Given the description of an element on the screen output the (x, y) to click on. 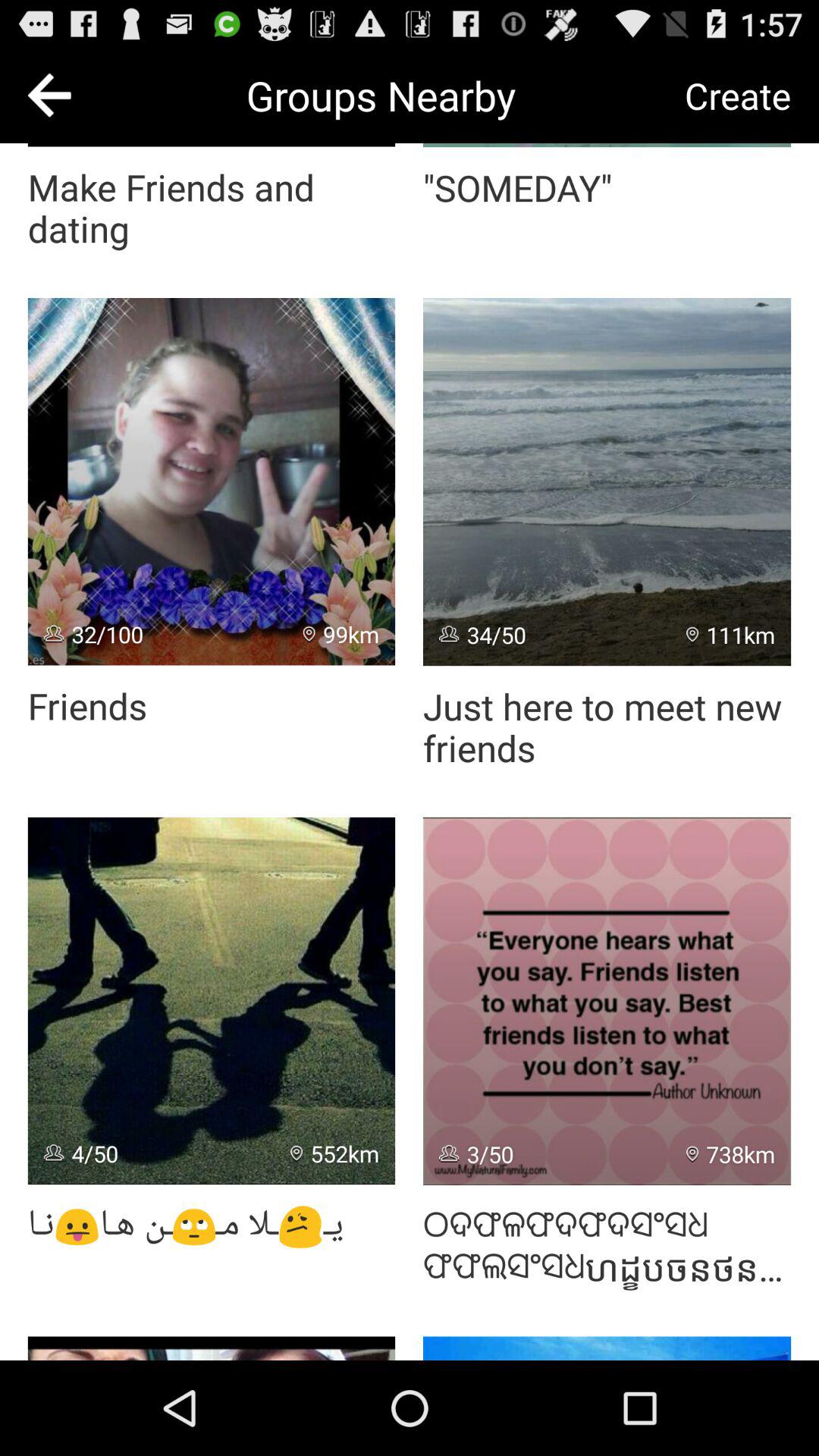
select the third image of the page (210, 1000)
click the button on the top right corner of the web page (737, 95)
